Given the description of an element on the screen output the (x, y) to click on. 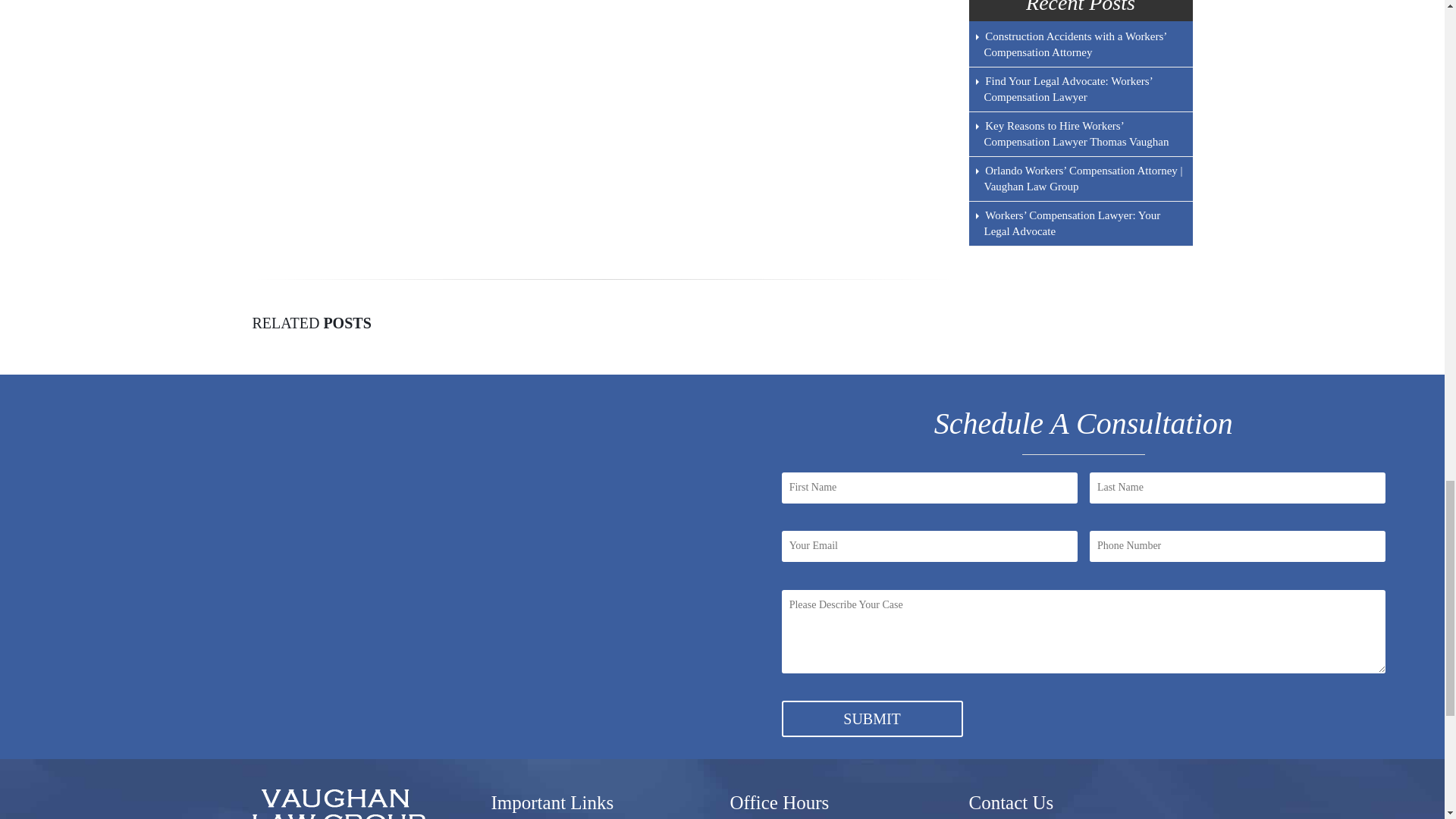
SUBMIT (871, 719)
